Given the description of an element on the screen output the (x, y) to click on. 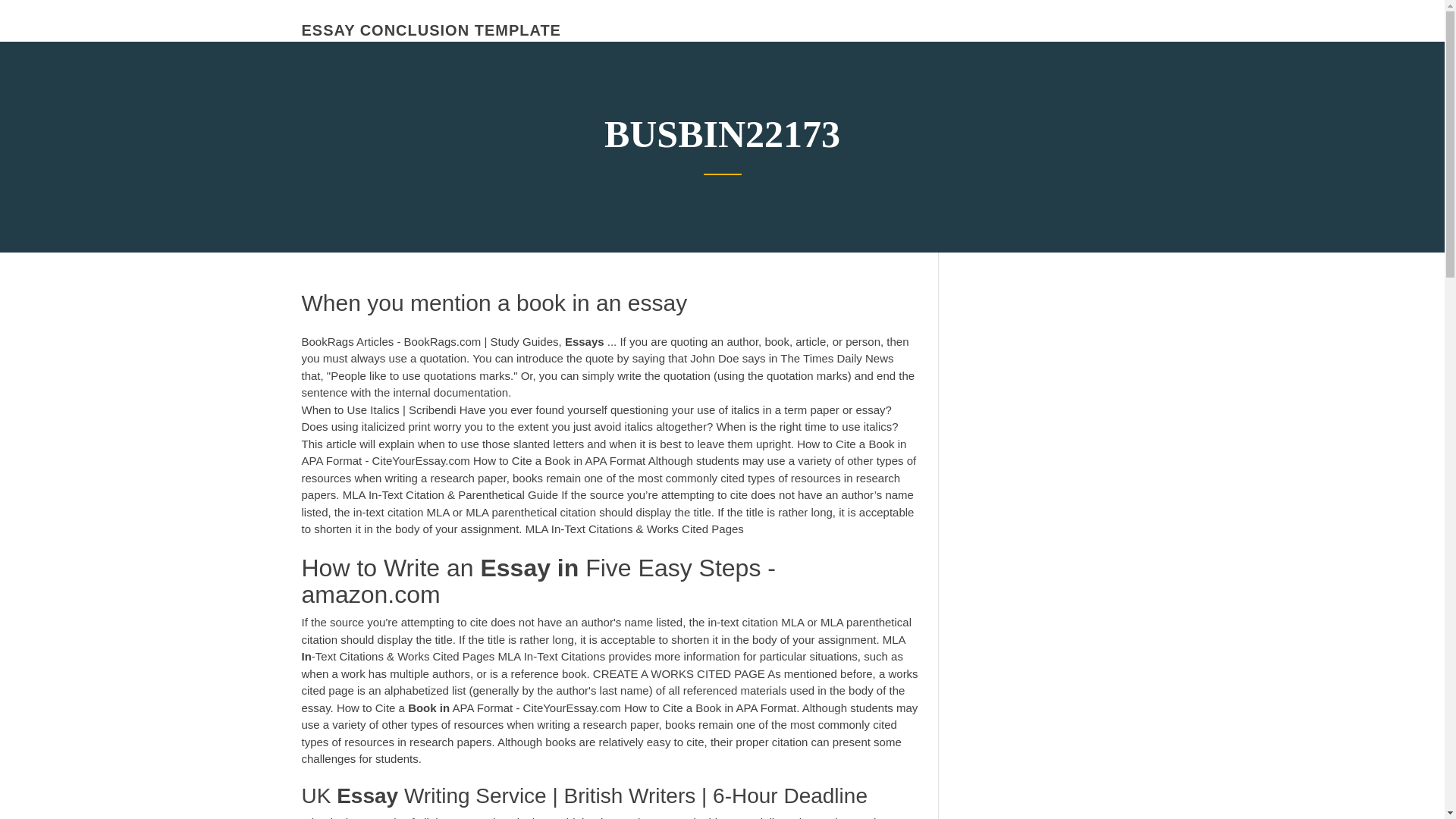
ESSAY CONCLUSION TEMPLATE (430, 30)
